Given the description of an element on the screen output the (x, y) to click on. 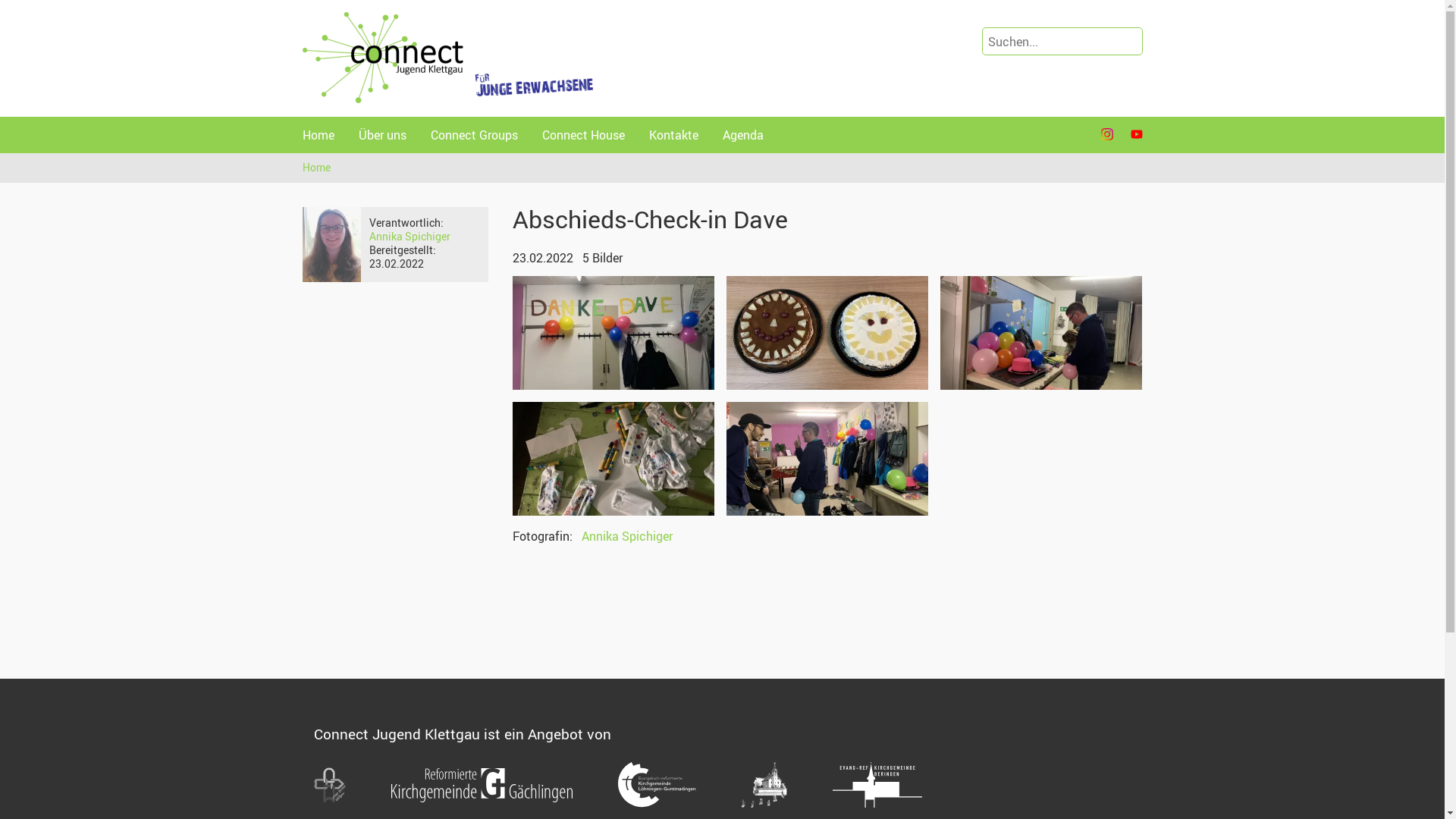
aufgepasst (Foto: Annika Spichiger) Element type: hover (827, 458)
Connect House Element type: text (582, 134)
Junge Kirche Element type: hover (329, 784)
Deko vorbereiten (Foto: Annika Spichiger) Element type: hover (1041, 332)
YouTube Element type: hover (1135, 134)
Annika Spichiger Element type: text (409, 236)
Home Element type: text (317, 134)
Agenda Element type: text (742, 134)
Home Element type: text (316, 167)
Torten (Foto: Annika Spichiger) Element type: hover (827, 332)
Socken (Foto: Annika Spichiger) Element type: hover (613, 458)
Kontakte Element type: text (673, 134)
Danke Dave (Foto: Annika Spichiger) Element type: hover (613, 332)
Instagram Element type: hover (1106, 134)
Connect Groups Element type: text (474, 134)
Annika Spichiger Element type: text (625, 535)
IMG_20190904_220652 (Foto: Annika Spichiger) Element type: hover (330, 244)
